Given the description of an element on the screen output the (x, y) to click on. 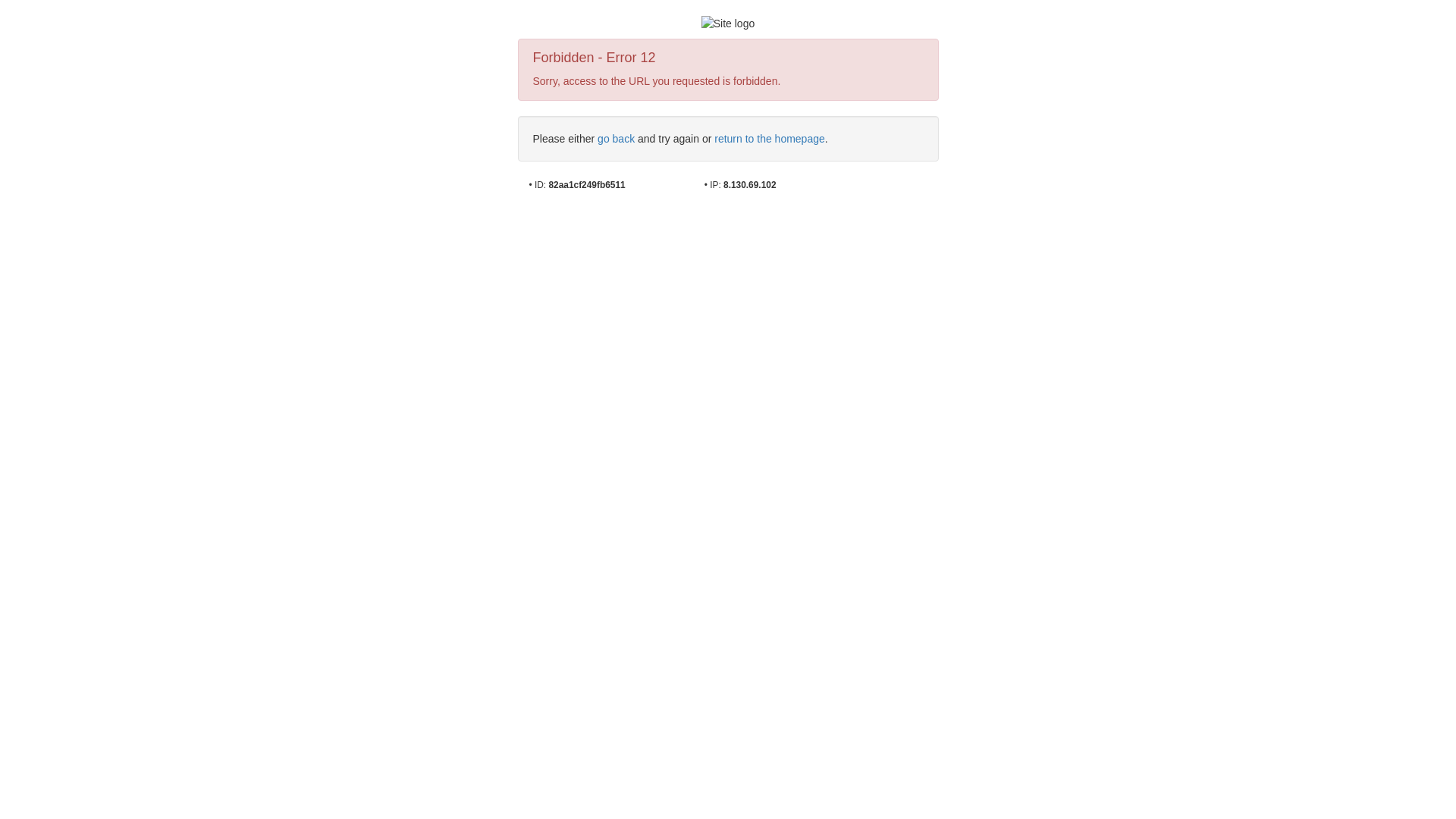
go back Element type: text (615, 138)
return to the homepage Element type: text (769, 138)
